Given the description of an element on the screen output the (x, y) to click on. 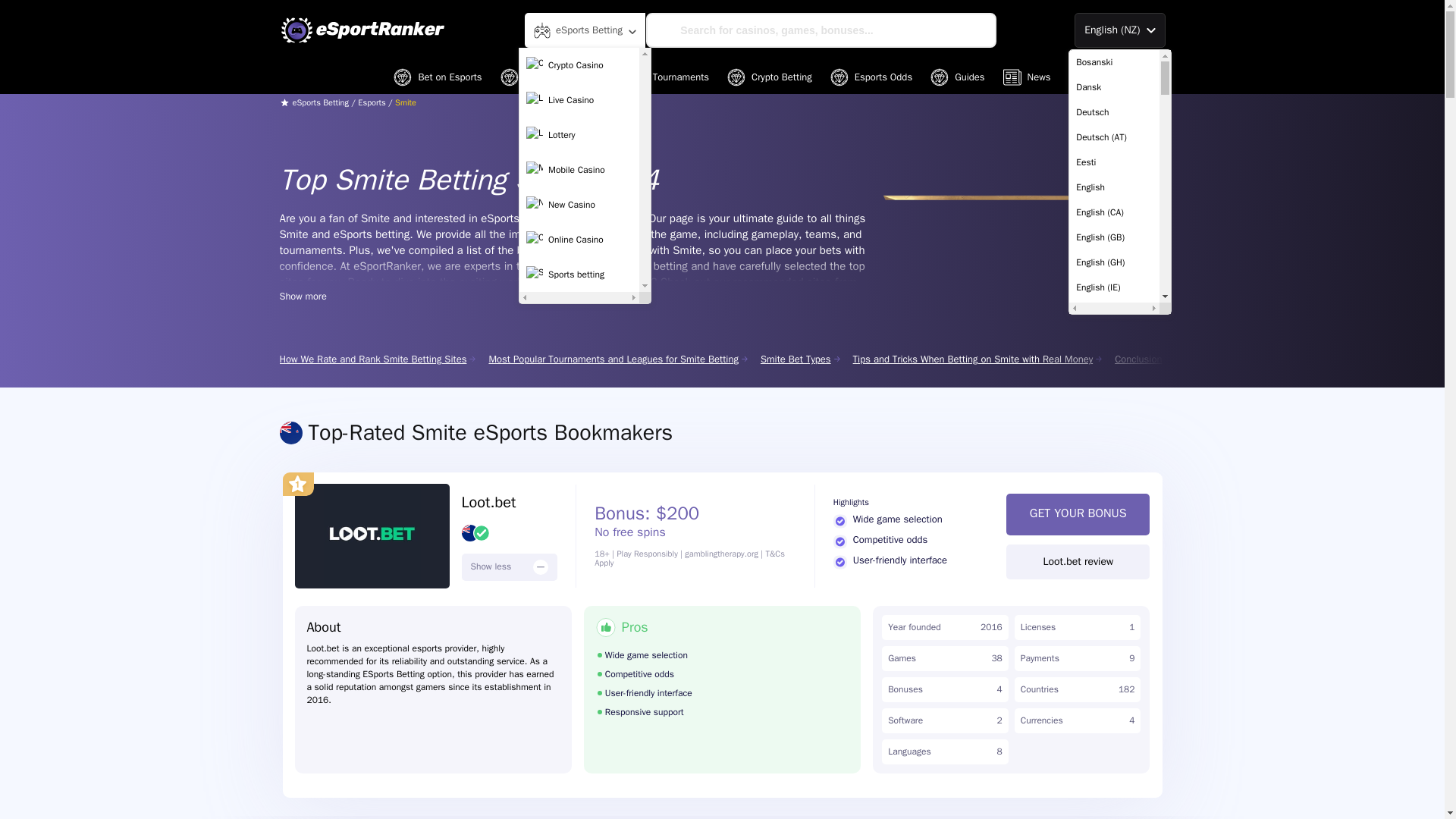
Lottery (579, 134)
Eesti (1113, 162)
English (1113, 187)
Dansk (1113, 87)
Mobile Casino (579, 169)
Sports betting (579, 274)
Hrvatski (1113, 809)
Crypto Casino (579, 64)
Online Casino (579, 239)
Bosanski (1113, 62)
Deutsch (1113, 112)
Live Casino (579, 99)
New Casino (579, 204)
